Given the description of an element on the screen output the (x, y) to click on. 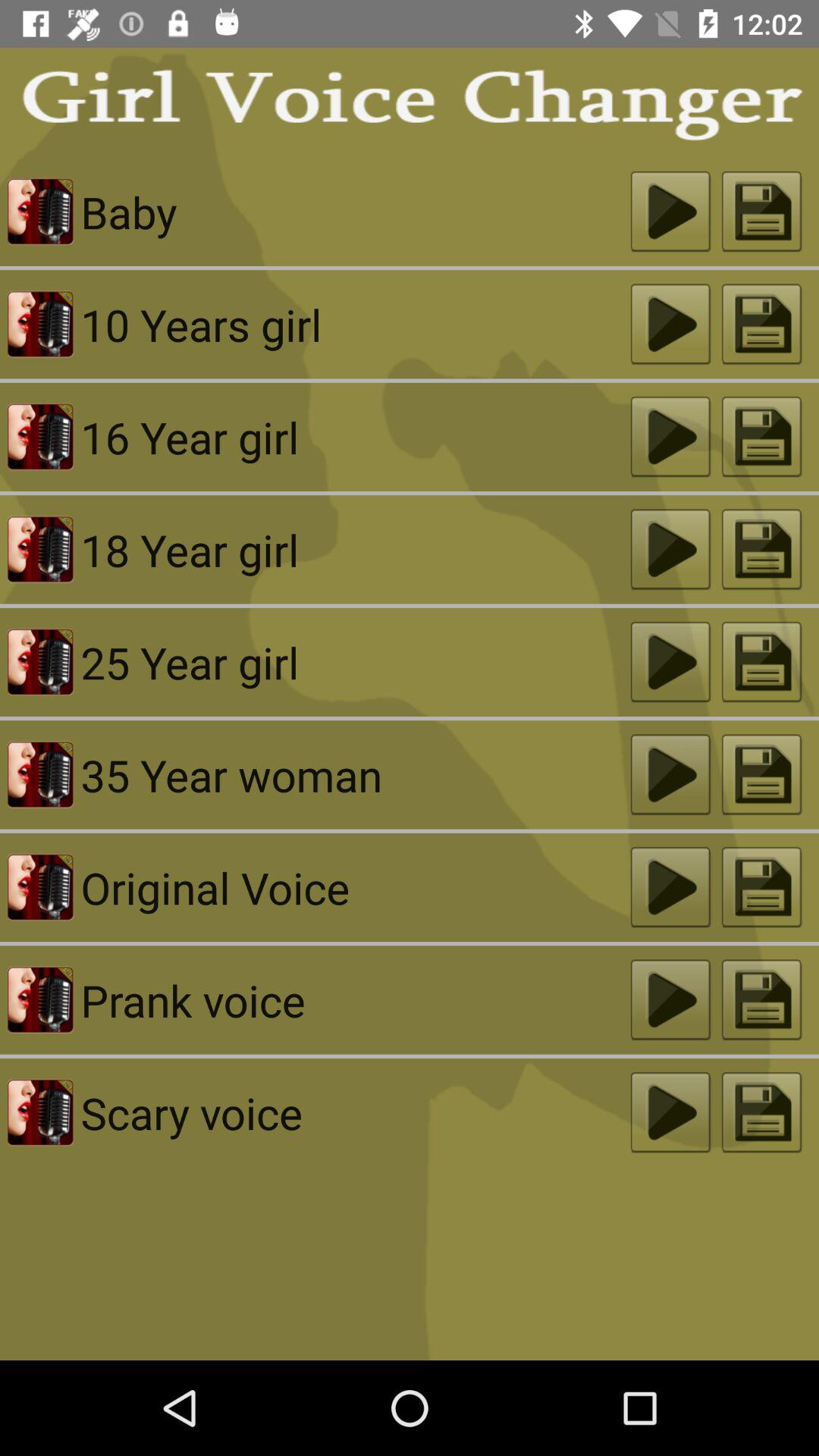
swipe until the baby (355, 211)
